Given the description of an element on the screen output the (x, y) to click on. 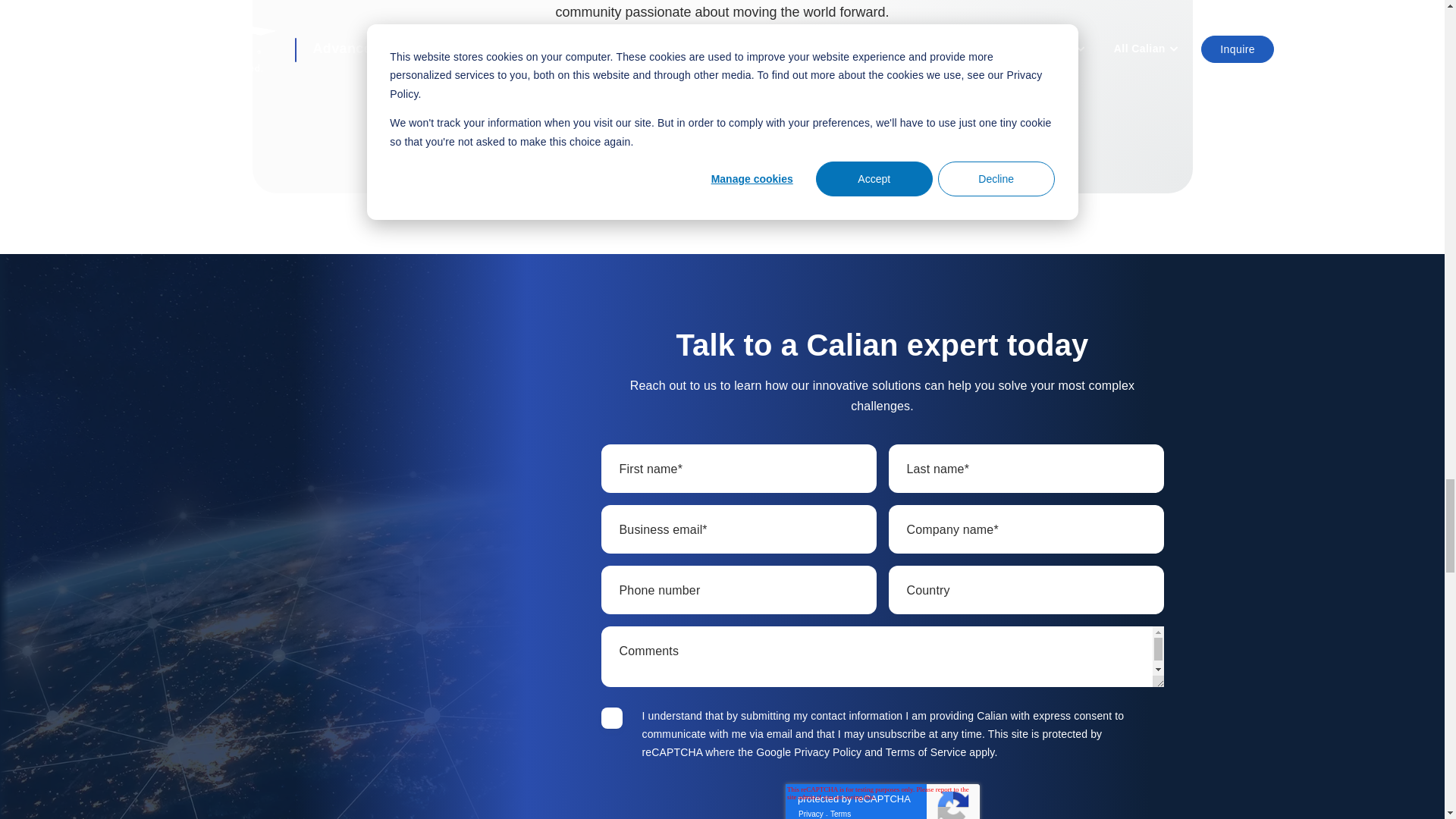
reCAPTCHA (882, 801)
